Given the description of an element on the screen output the (x, y) to click on. 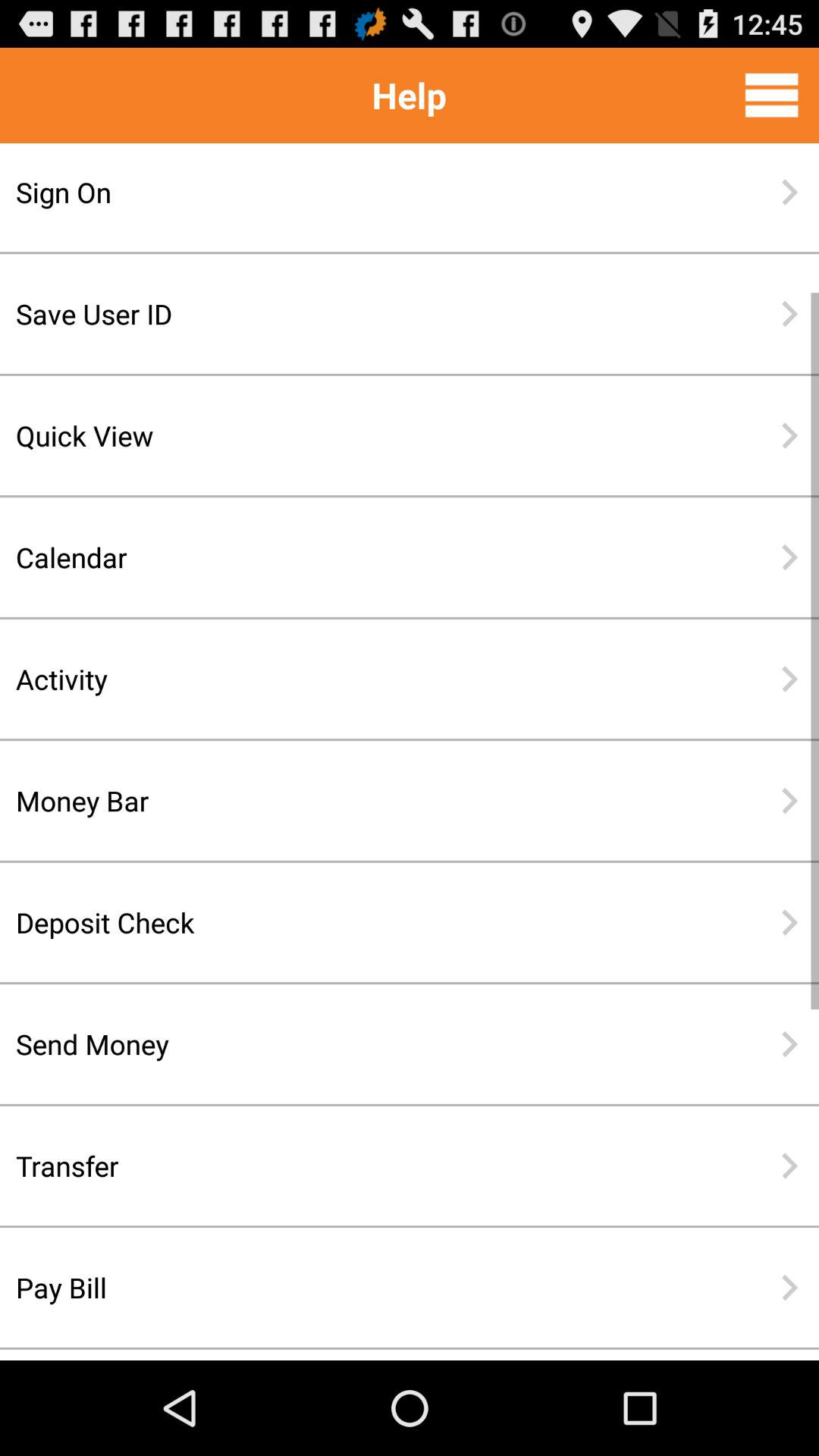
open the icon below the deposit check (359, 1044)
